Given the description of an element on the screen output the (x, y) to click on. 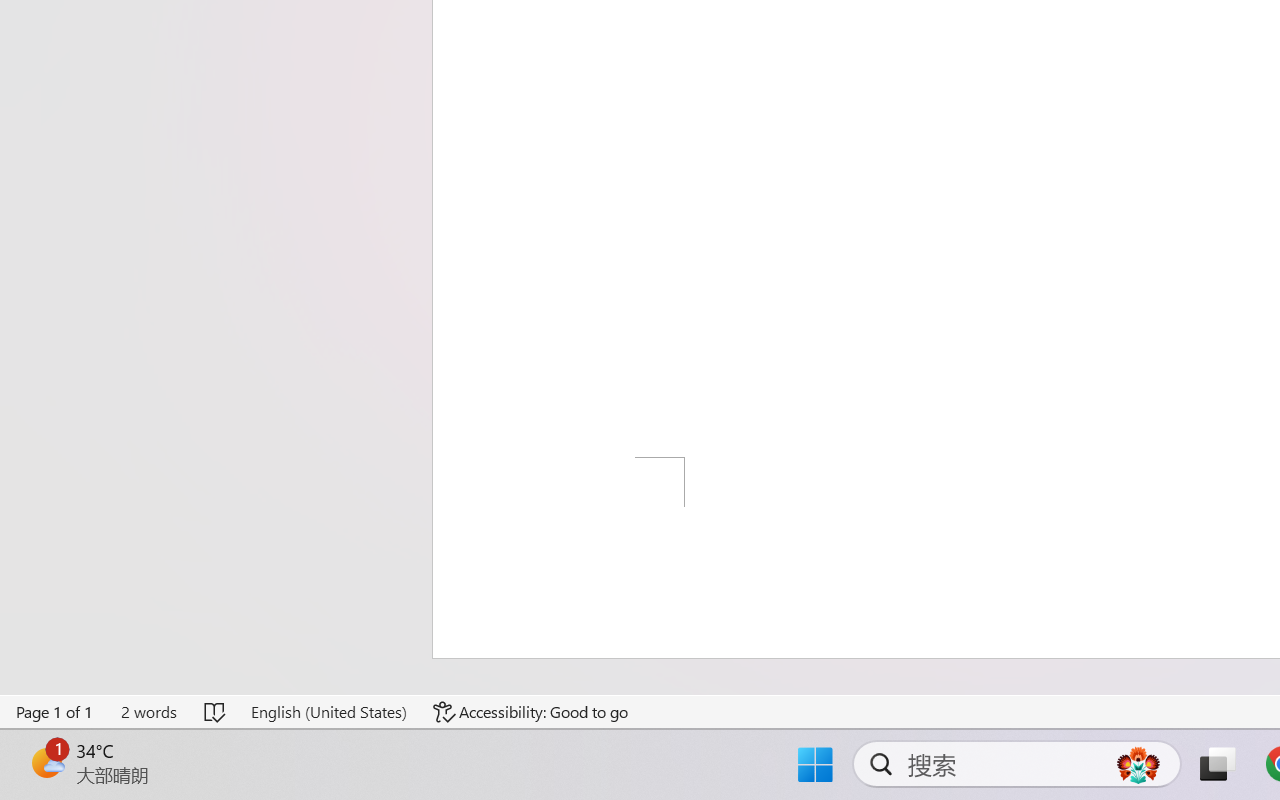
AutomationID: DynamicSearchBoxGleamImage (1138, 764)
Page Number Page 1 of 1 (55, 712)
AutomationID: BadgeAnchorLargeTicker (46, 762)
Language English (United States) (328, 712)
Spelling and Grammar Check No Errors (216, 712)
Accessibility Checker Accessibility: Good to go (531, 712)
